Given the description of an element on the screen output the (x, y) to click on. 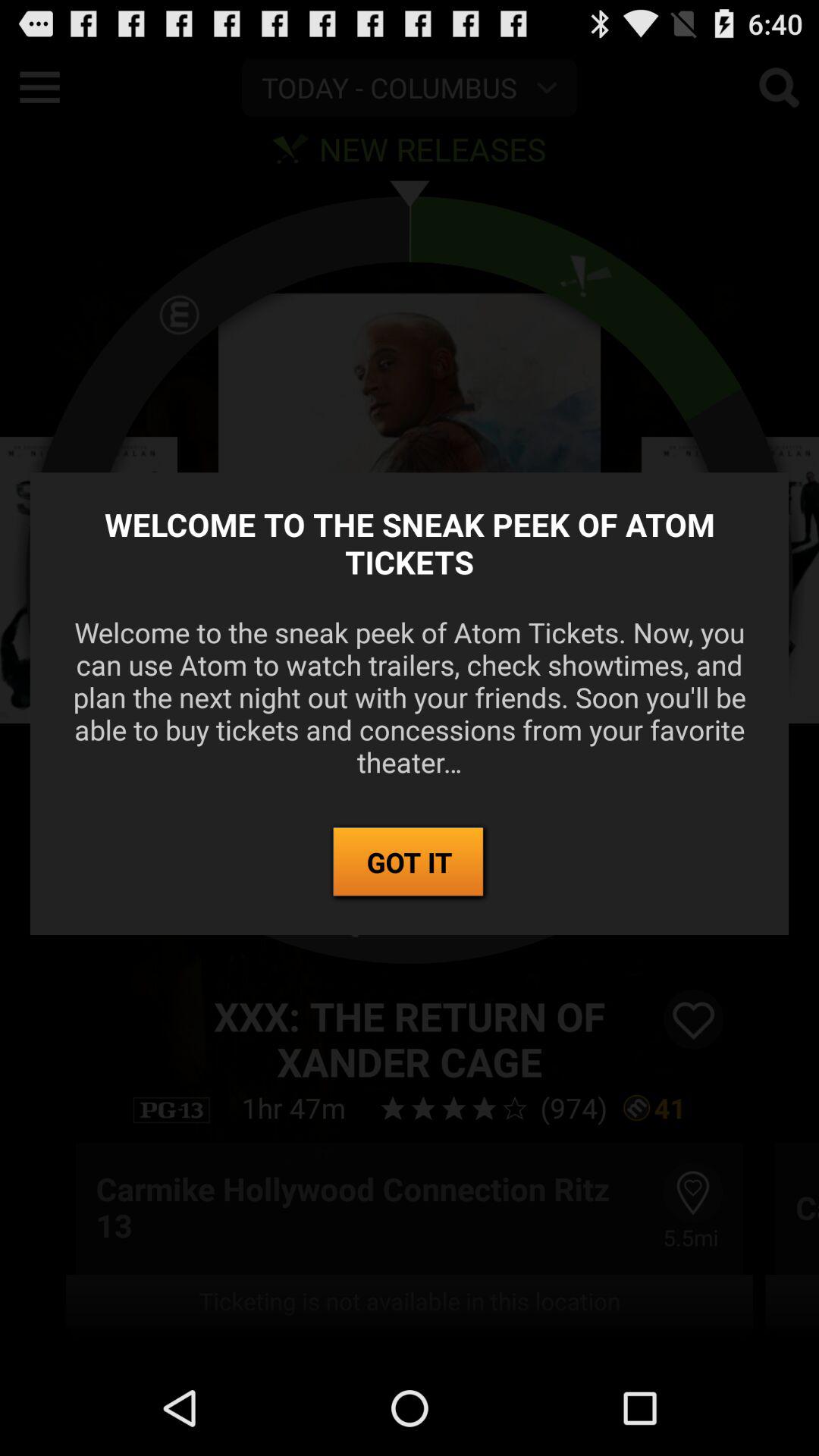
scroll until the got it icon (409, 862)
